Given the description of an element on the screen output the (x, y) to click on. 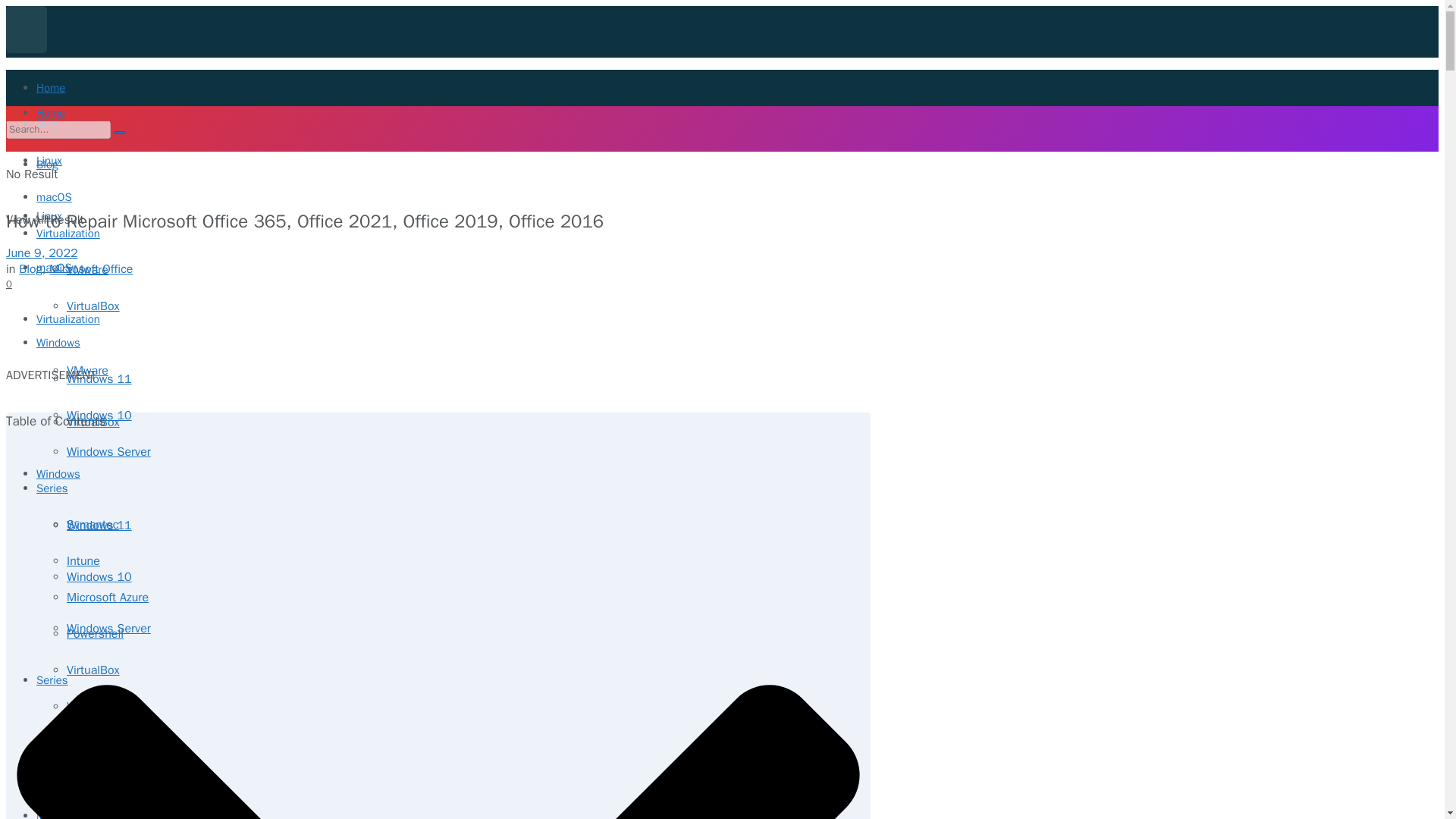
Symantec (91, 731)
Windows 11 (99, 378)
Series (52, 488)
Virtualization (68, 318)
Home (50, 88)
VMware (86, 269)
Home (50, 112)
Virtualization (68, 233)
VMware (86, 370)
Linux (49, 215)
Symantec (91, 524)
macOS (53, 196)
Blog (47, 124)
macOS (53, 267)
Linux (49, 160)
